Given the description of an element on the screen output the (x, y) to click on. 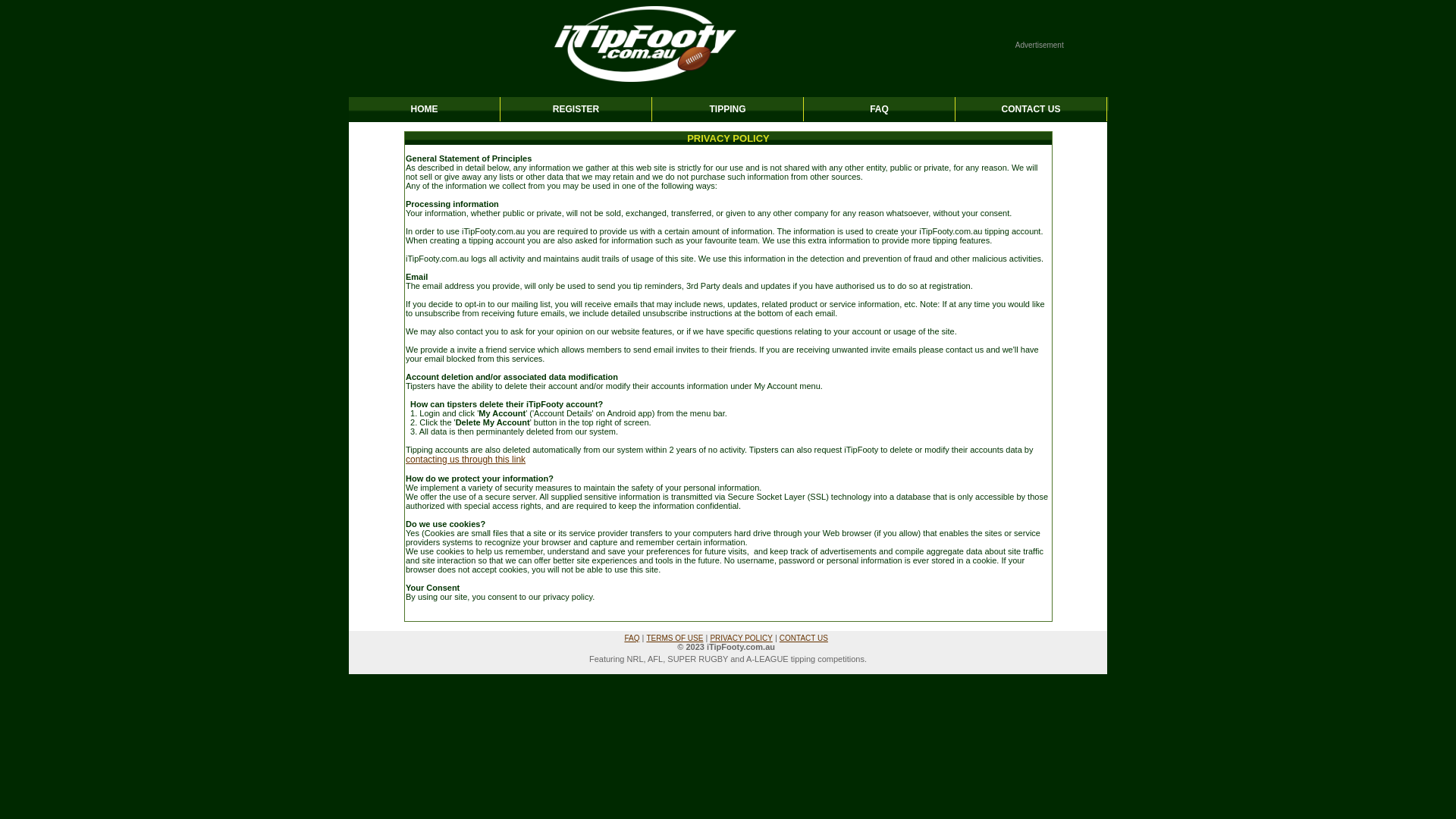
contacting us through this link Element type: text (465, 459)
FAQ Element type: text (879, 109)
REGISTER Element type: text (576, 109)
PRIVACY POLICY Element type: text (740, 637)
CONTACT US Element type: text (1031, 109)
HOME Element type: text (424, 109)
FAQ Element type: text (631, 637)
CONTACT US Element type: text (803, 637)
TIPPING Element type: text (727, 109)
TERMS OF USE Element type: text (674, 637)
